Given the description of an element on the screen output the (x, y) to click on. 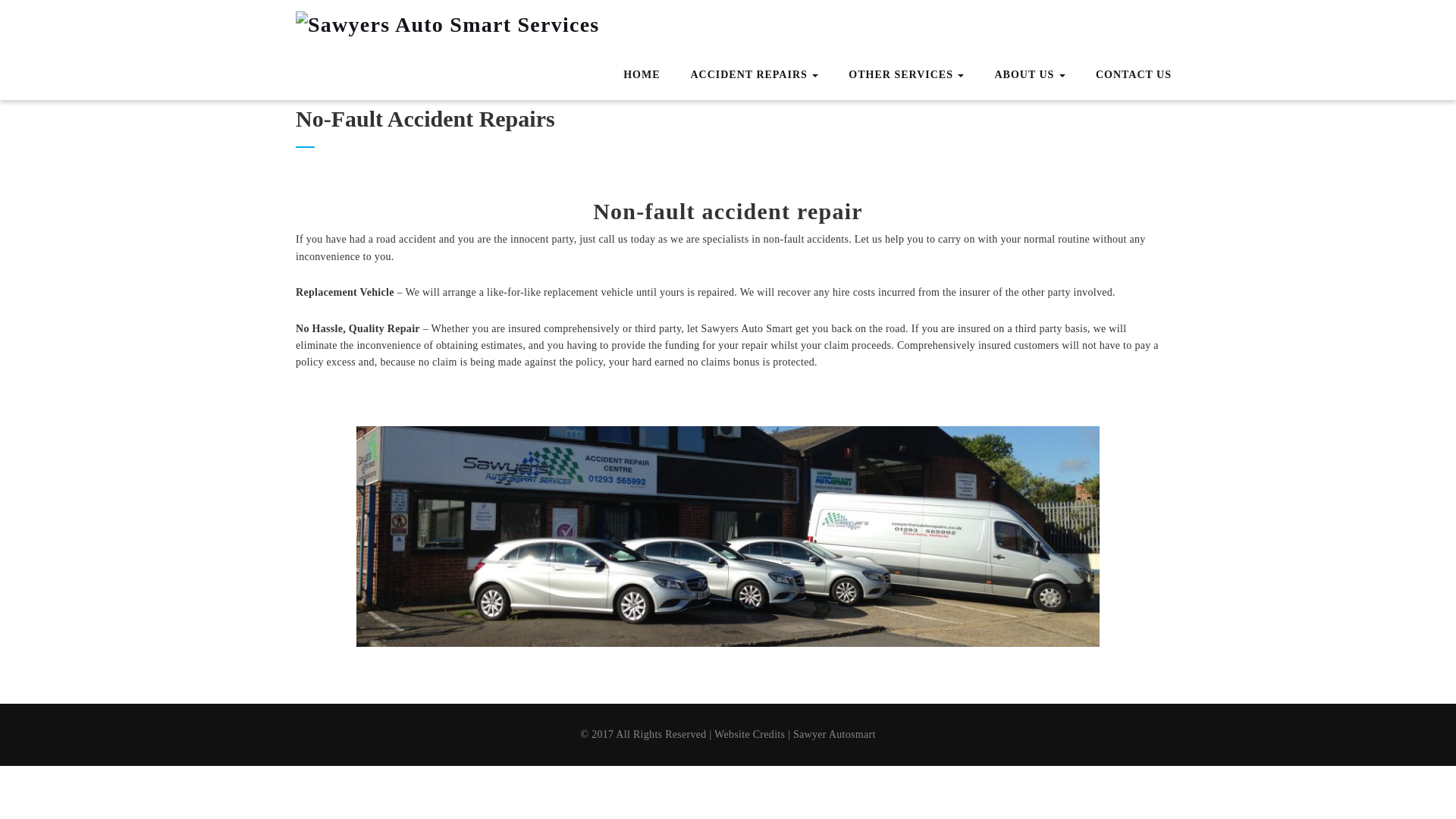
ACCIDENT REPAIRS (754, 74)
Other Services (905, 74)
ABOUT US (1029, 74)
OTHER SERVICES (905, 74)
CONTACT US (1134, 75)
Home (641, 75)
HOME (641, 75)
Contact Us (1134, 75)
Accident Repairs (754, 74)
About Us (1029, 74)
